Given the description of an element on the screen output the (x, y) to click on. 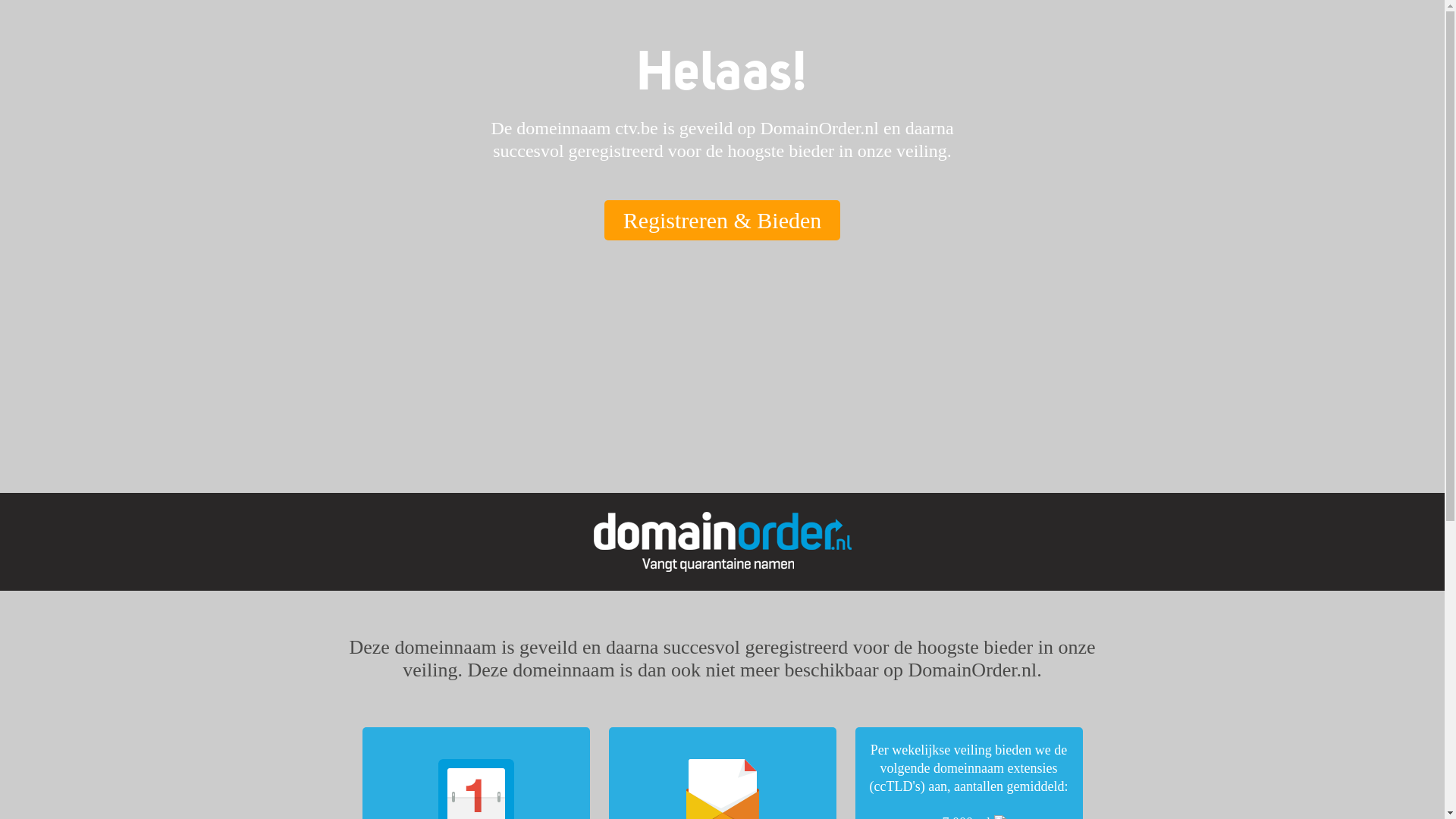
Registreren & Bieden Element type: text (722, 216)
